Given the description of an element on the screen output the (x, y) to click on. 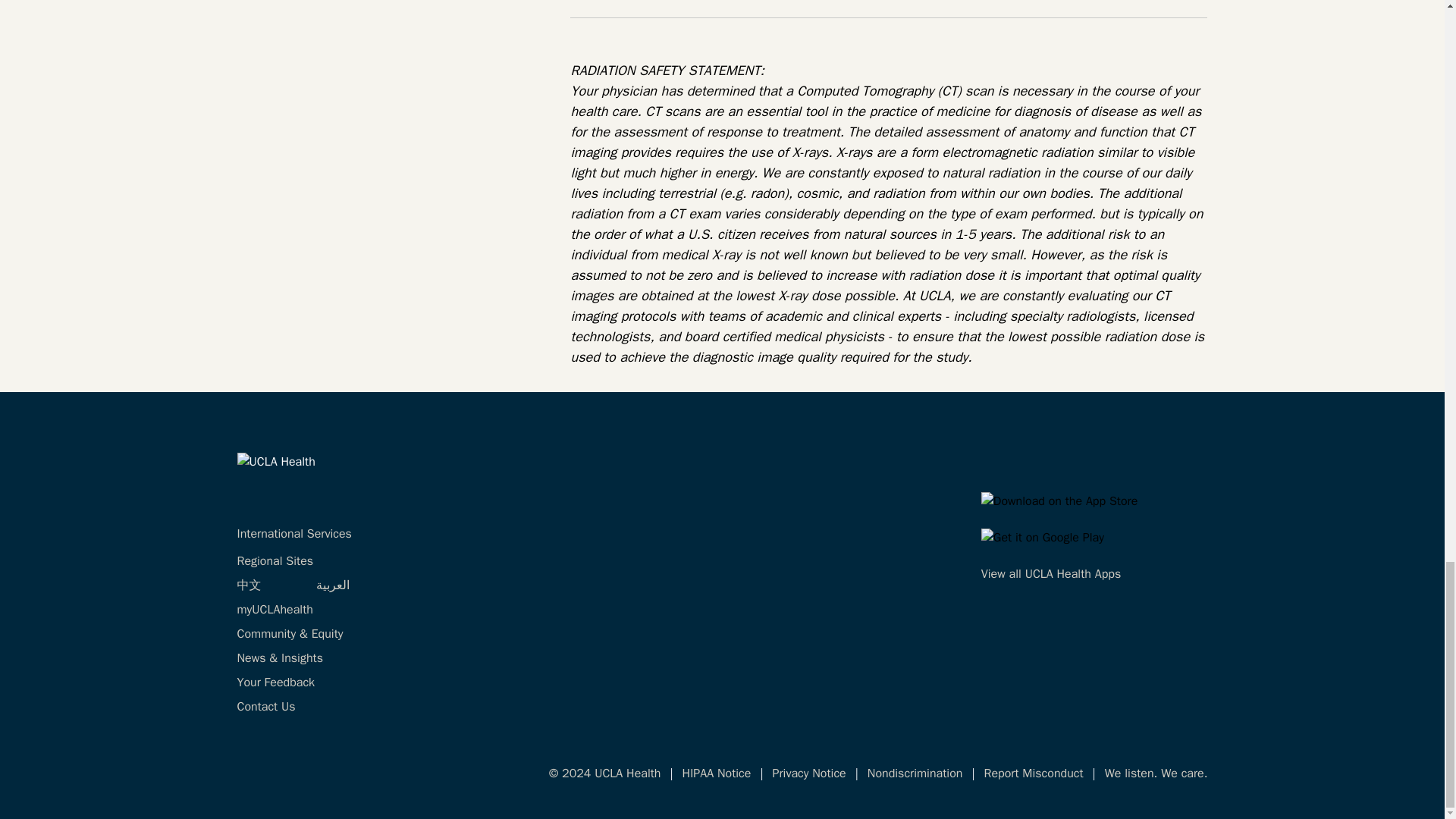
myUCLAhealth Login. (274, 609)
